Given the description of an element on the screen output the (x, y) to click on. 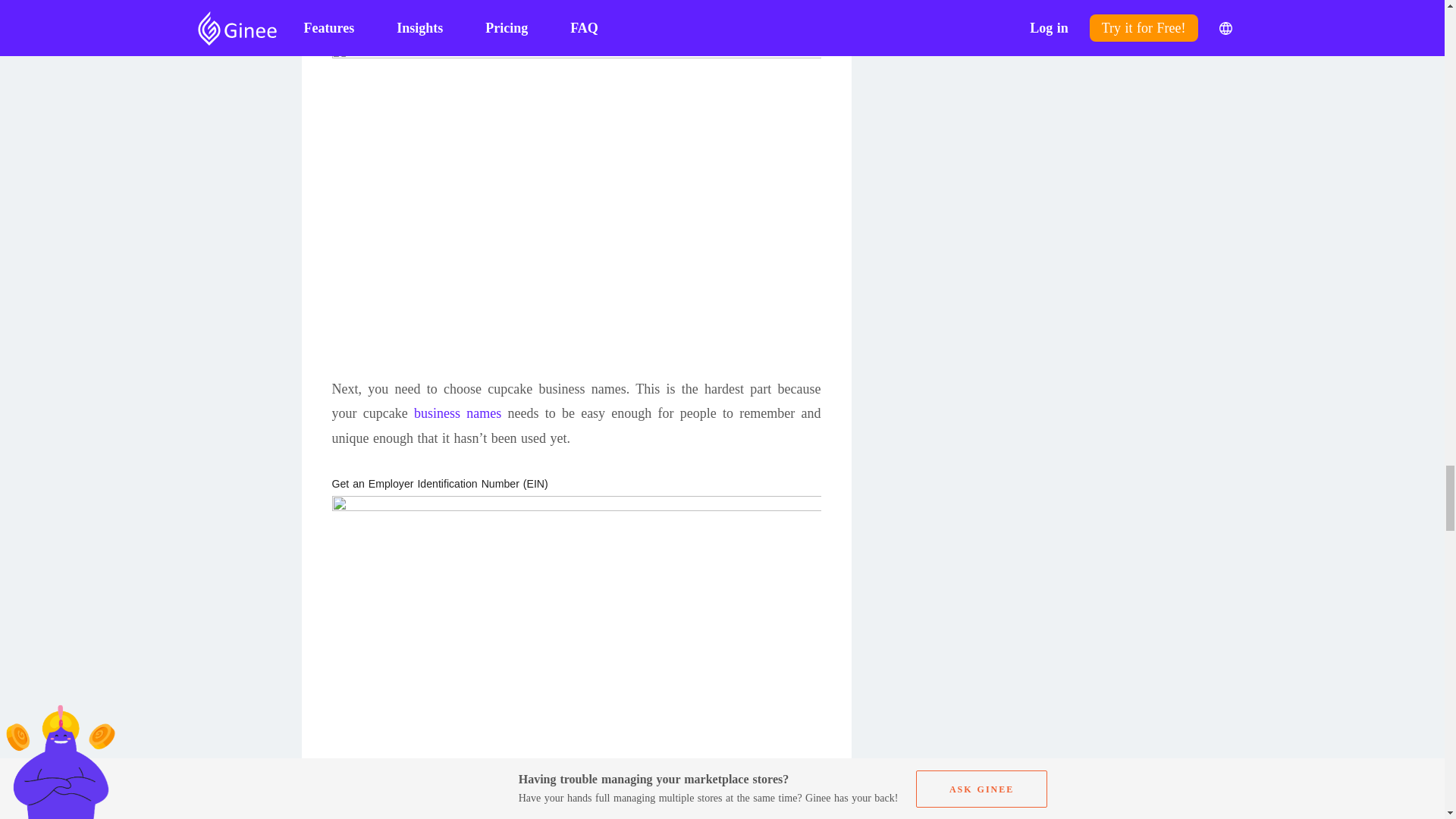
business names (456, 412)
